Given the description of an element on the screen output the (x, y) to click on. 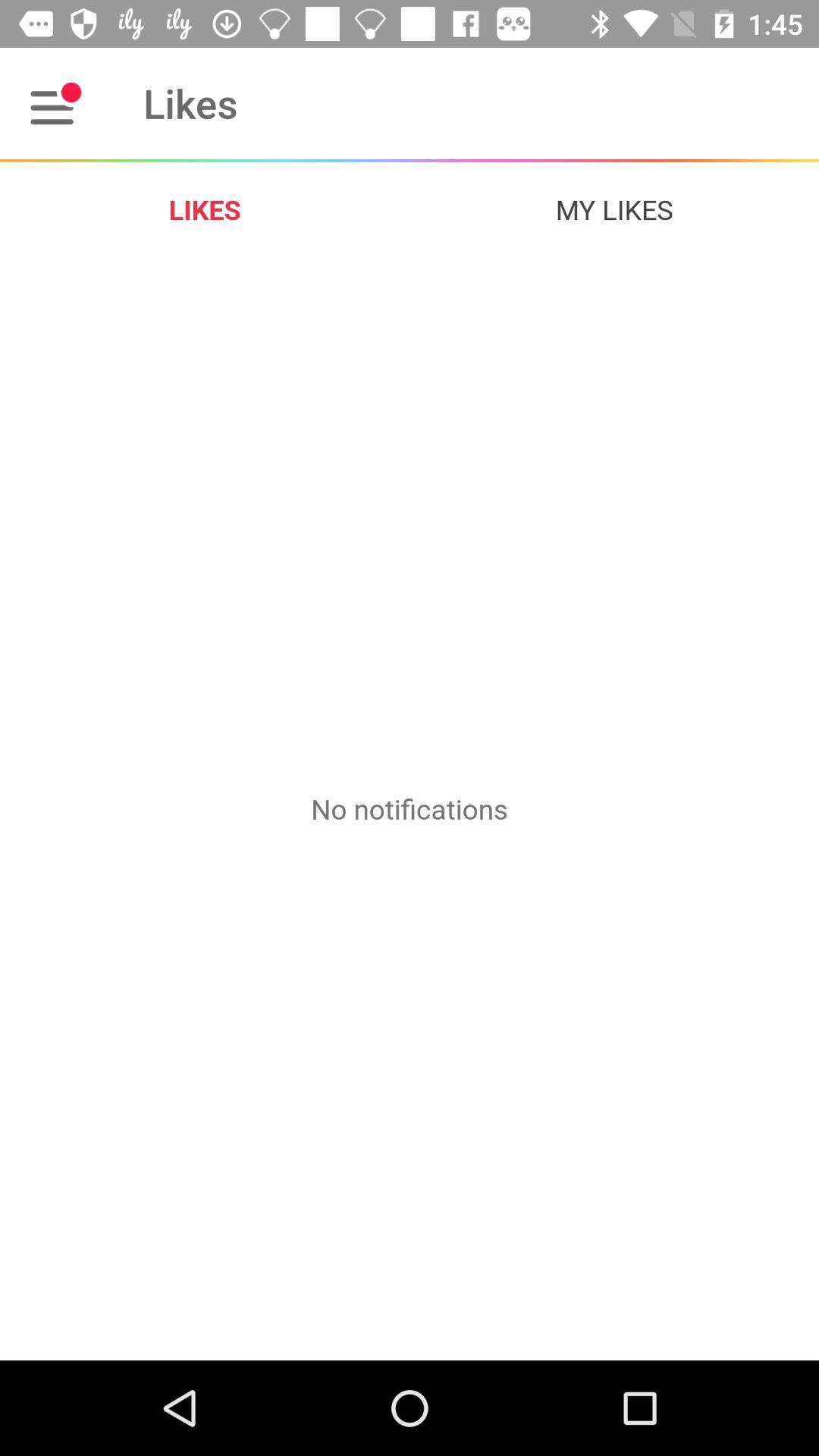
view menu (55, 103)
